Given the description of an element on the screen output the (x, y) to click on. 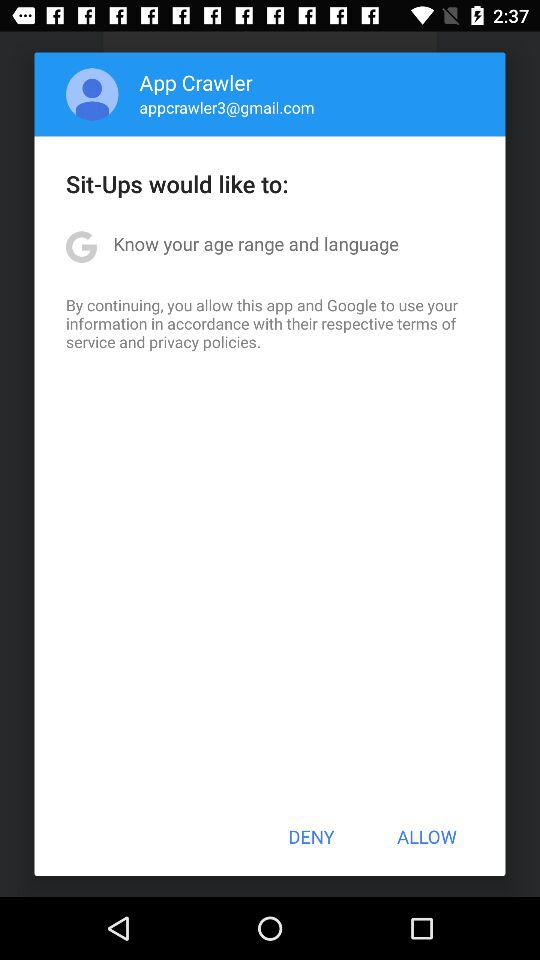
turn on icon above by continuing you icon (255, 243)
